Given the description of an element on the screen output the (x, y) to click on. 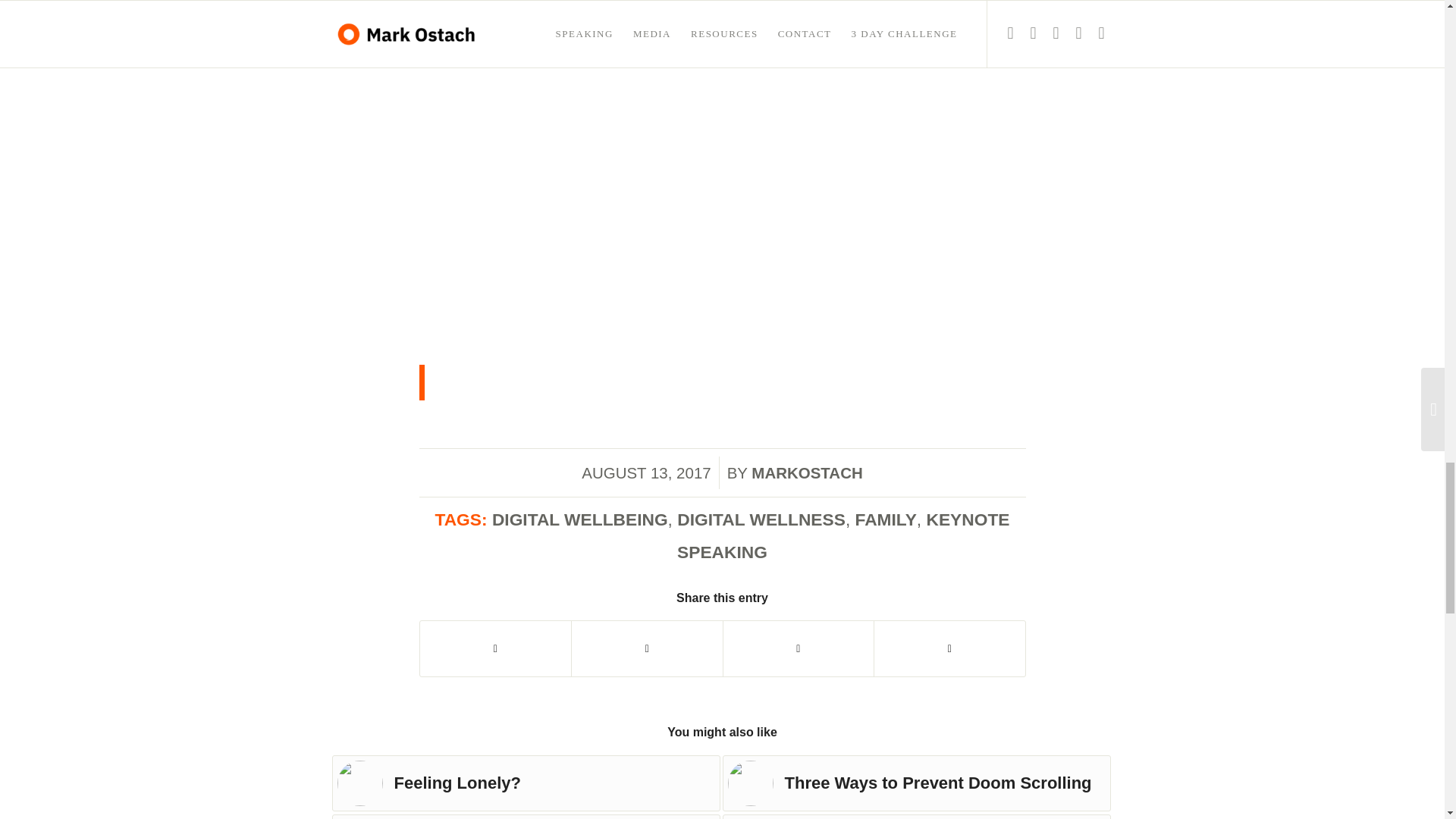
Feeling Lonely? (525, 783)
I Do Wedding Vows Mark and Ksenija Ostach (525, 816)
Feeling Lonely? (525, 783)
MARKOSTACH (806, 472)
Three Ways to Prevent Doom Scrolling (915, 783)
Let There Be Light! (915, 816)
lonely1 (358, 782)
DIGITAL WELLBEING (580, 519)
DIGITAL WELLNESS (761, 519)
